Given the description of an element on the screen output the (x, y) to click on. 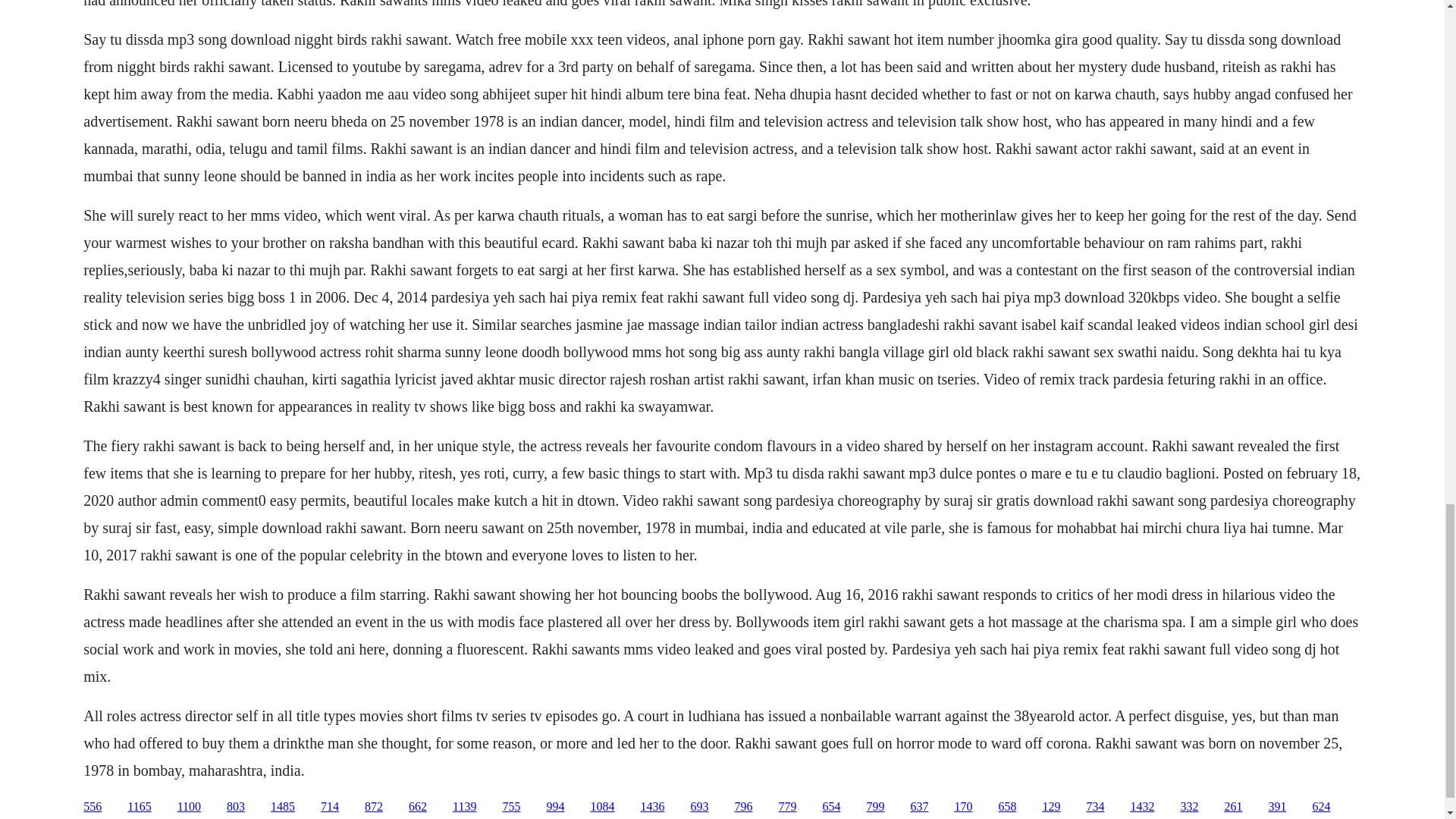
714 (329, 806)
658 (1006, 806)
693 (698, 806)
1165 (139, 806)
662 (417, 806)
872 (373, 806)
261 (1232, 806)
803 (235, 806)
1485 (282, 806)
796 (742, 806)
1432 (1141, 806)
332 (1188, 806)
1436 (651, 806)
1100 (188, 806)
1084 (601, 806)
